Given the description of an element on the screen output the (x, y) to click on. 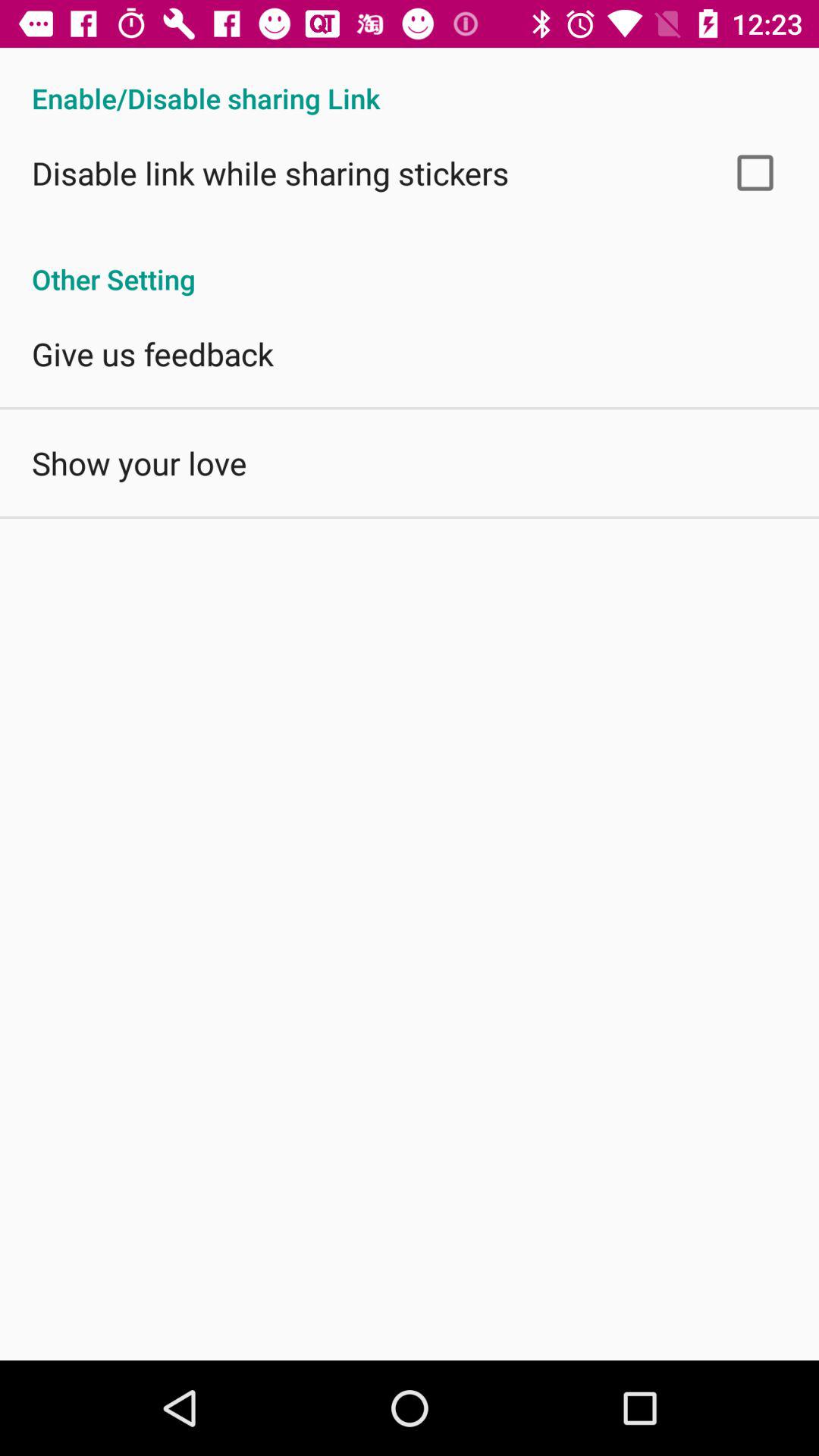
click icon below enable disable sharing app (755, 172)
